Given the description of an element on the screen output the (x, y) to click on. 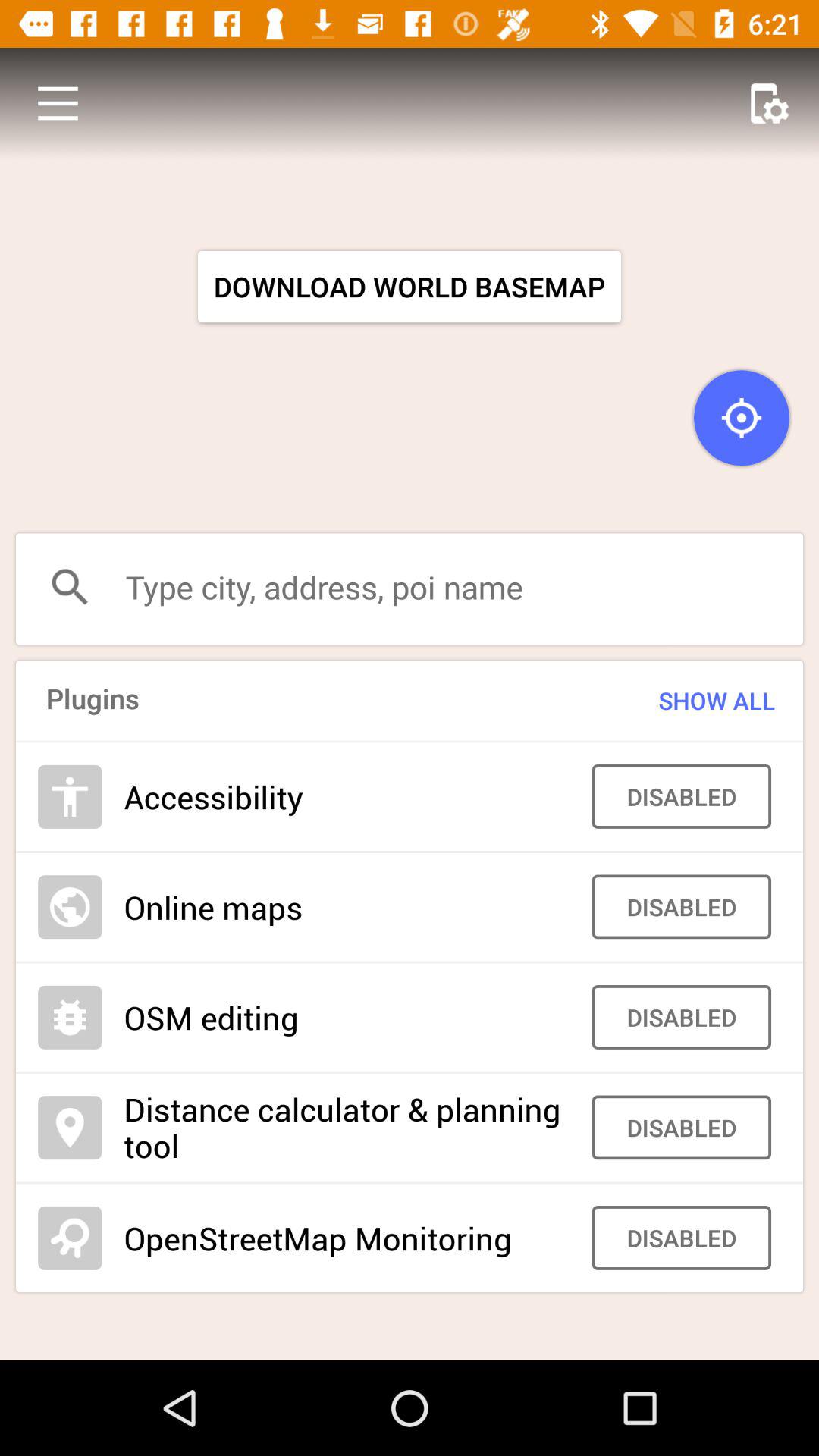
select icon below the type city address (687, 700)
